Given the description of an element on the screen output the (x, y) to click on. 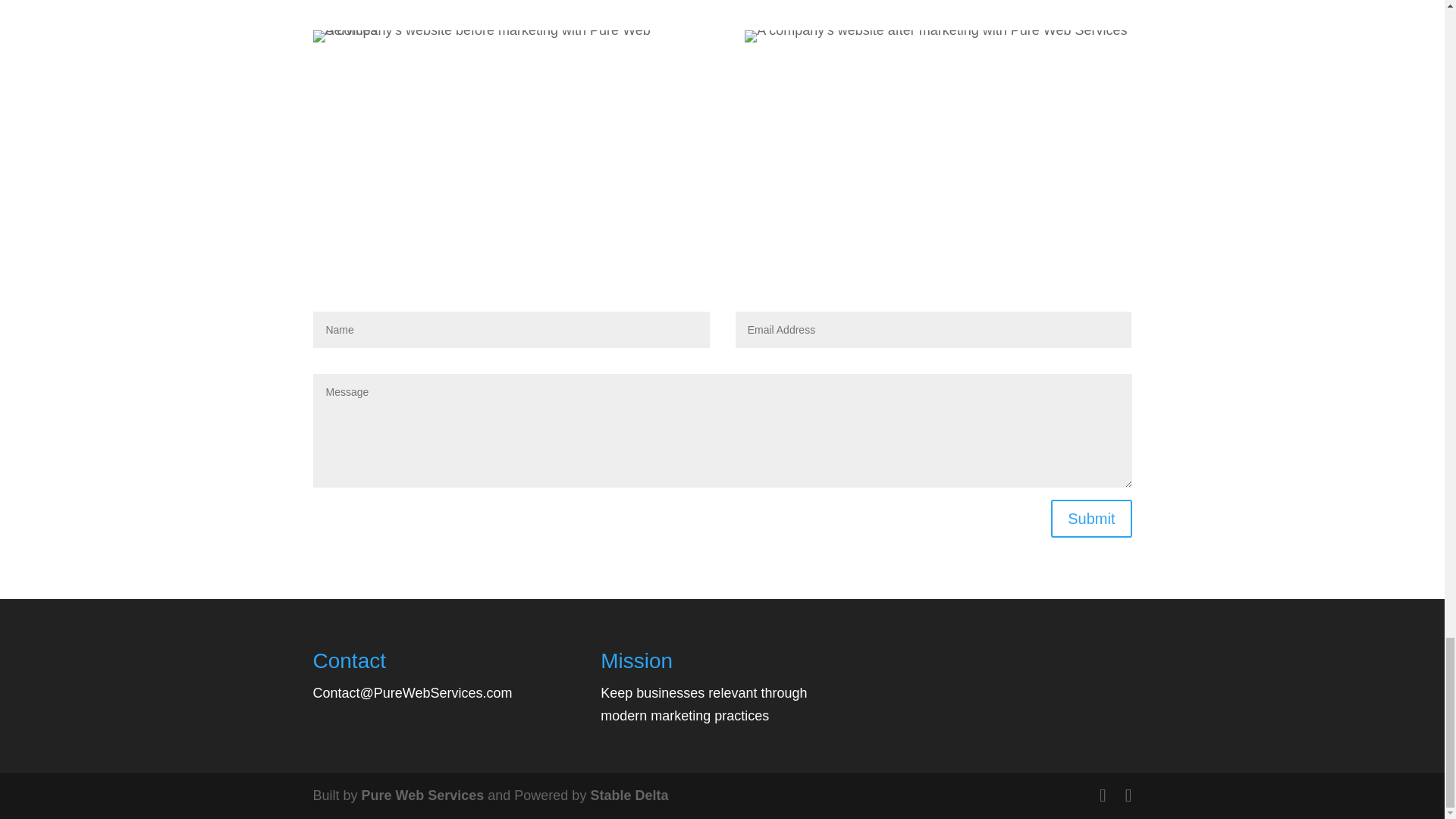
A company's website after marketing with Pure Web Services (935, 36)
Pure Web Services (422, 795)
Stable Delta (628, 795)
Submit (1091, 518)
A company's website before marketing with Pure Web Services (505, 36)
See Portfolio (722, 102)
